Given the description of an element on the screen output the (x, y) to click on. 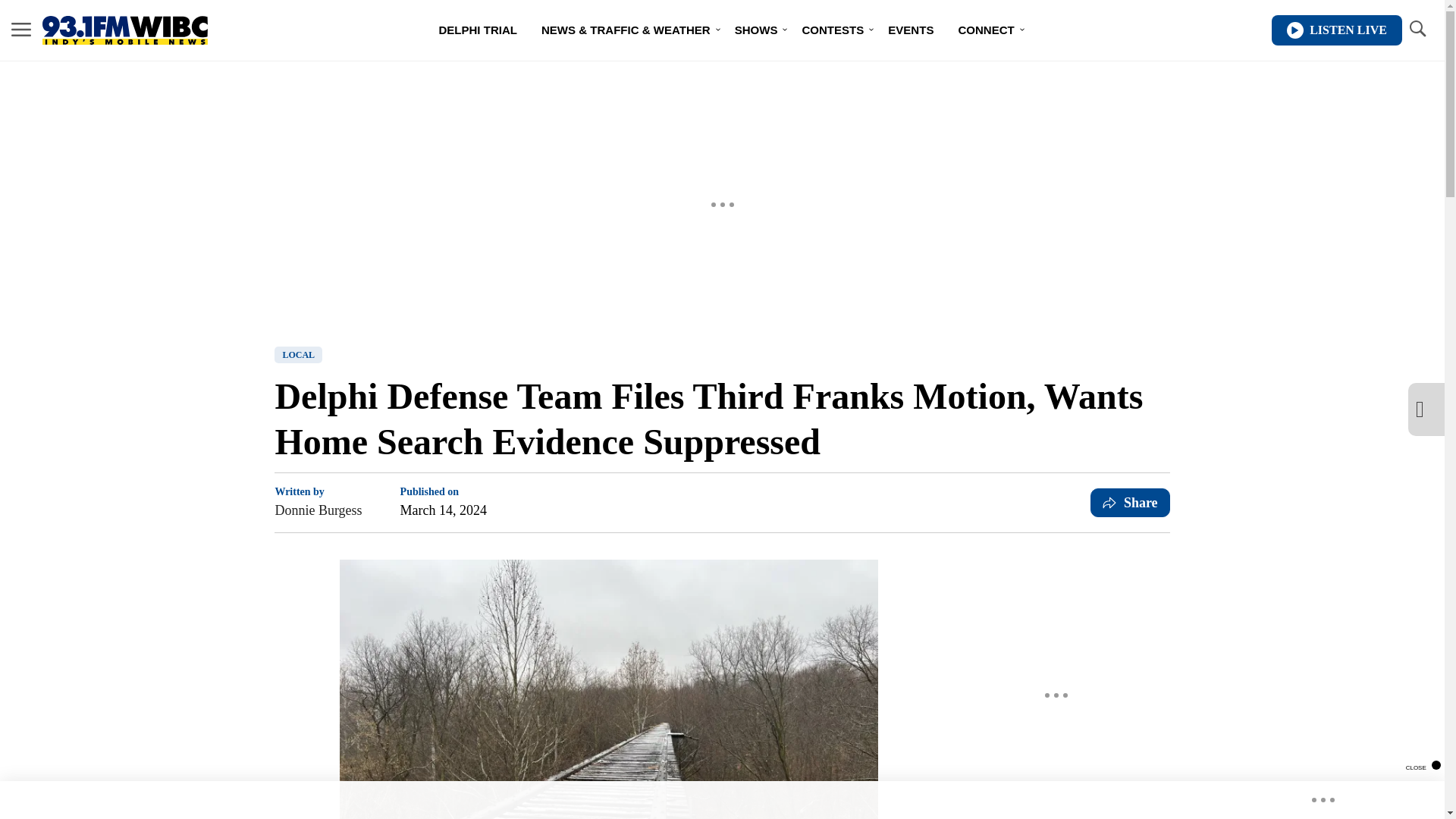
TOGGLE SEARCH (1417, 28)
TOGGLE SEARCH (1417, 30)
MENU (20, 30)
EVENTS (910, 30)
SHOWS (756, 30)
DELPHI TRIAL (477, 30)
MENU (20, 29)
CONTESTS (832, 30)
LISTEN LIVE (1336, 30)
CONNECT (985, 30)
